Given the description of an element on the screen output the (x, y) to click on. 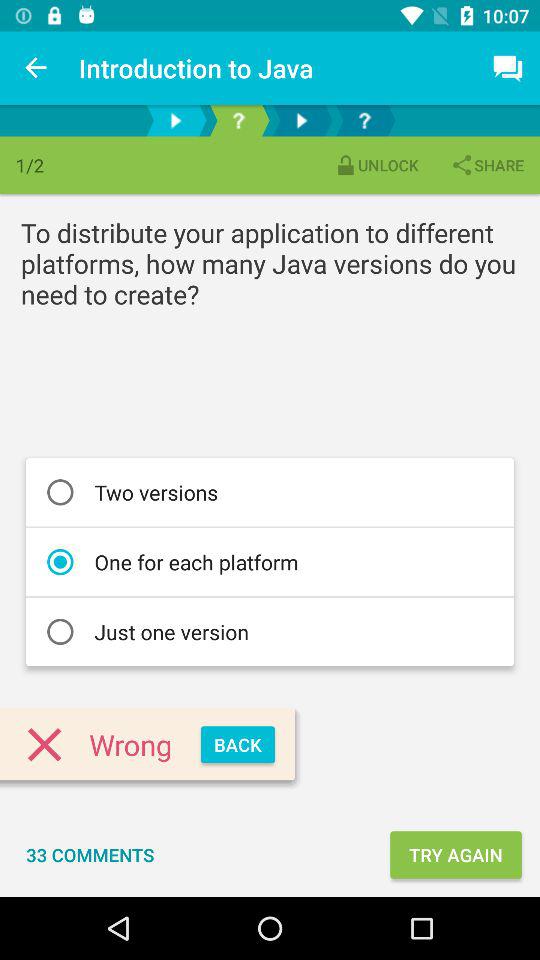
scroll until the back item (237, 744)
